Given the description of an element on the screen output the (x, y) to click on. 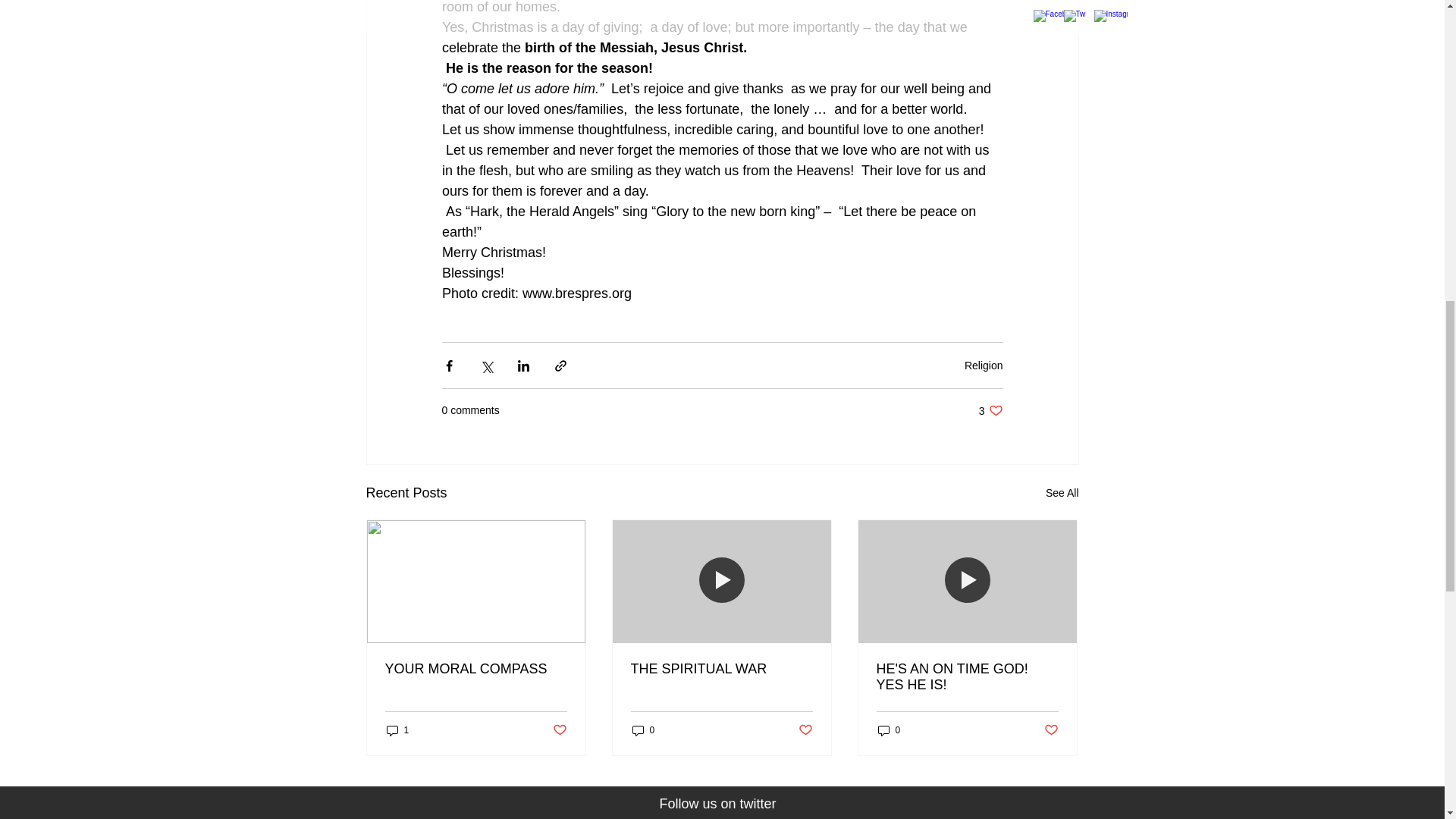
THE SPIRITUAL WAR (990, 410)
Post not marked as liked (721, 668)
0 (558, 729)
HE'S AN ON TIME GOD! YES HE IS! (889, 730)
See All (967, 676)
Post not marked as liked (1061, 493)
0 (804, 729)
1 (643, 730)
Religion (397, 730)
